Given the description of an element on the screen output the (x, y) to click on. 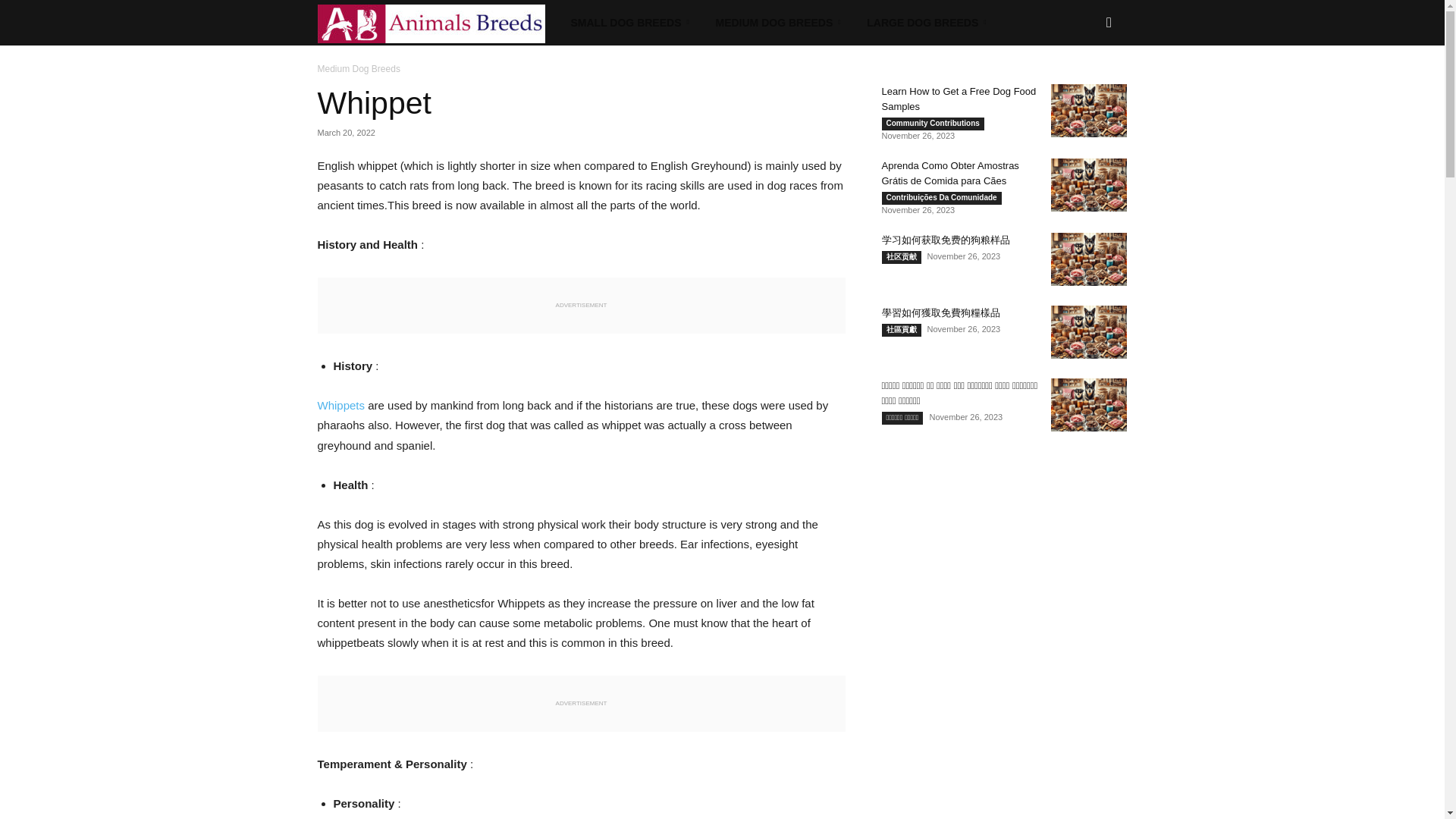
MEDIUM DOG BREEDS (780, 22)
SMALL DOG BREEDS (631, 22)
Animals Breeds (438, 22)
